Given the description of an element on the screen output the (x, y) to click on. 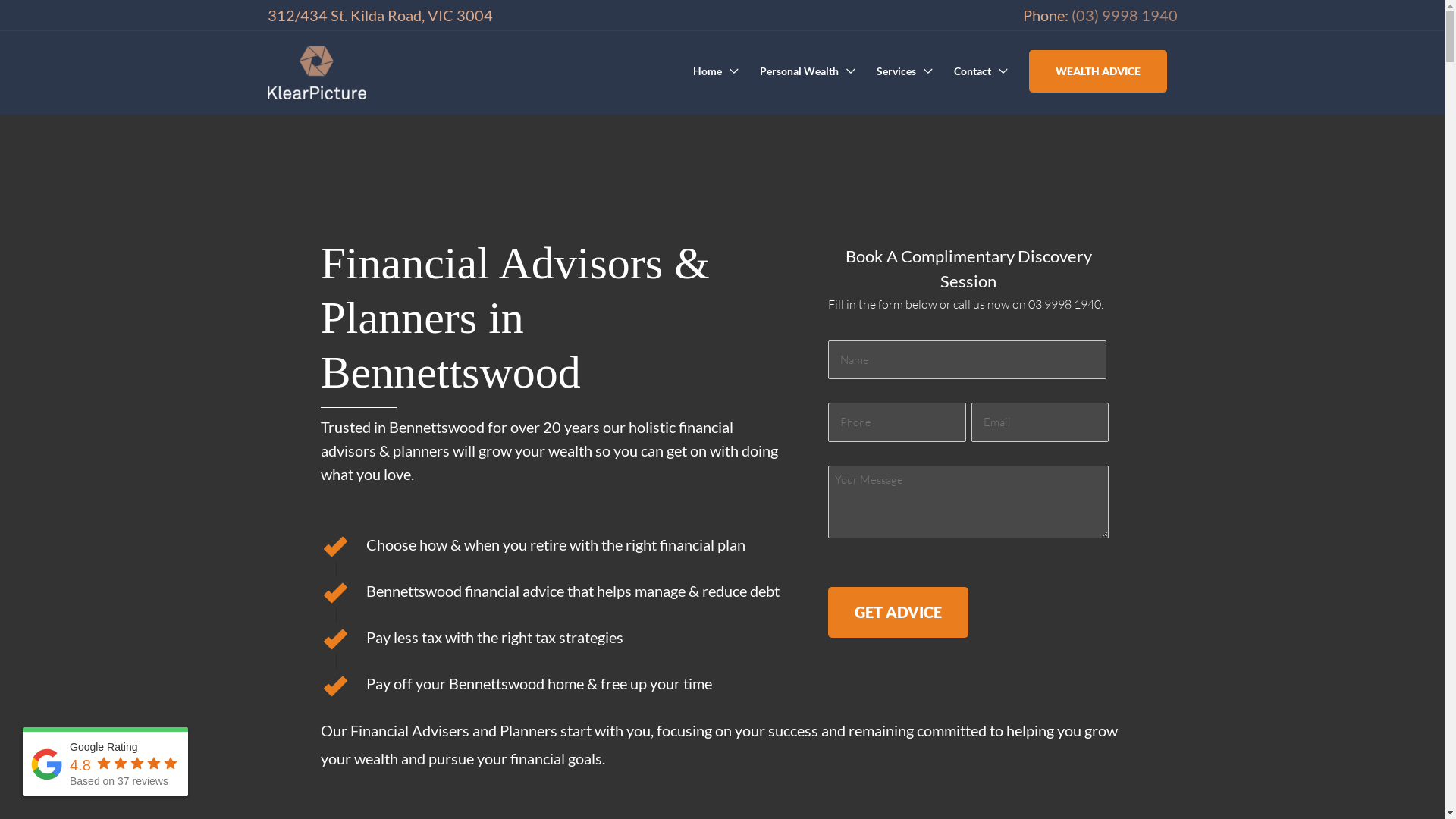
Home Element type: text (715, 71)
Personal Wealth Element type: text (807, 71)
(03) 9998 1940 Element type: text (1123, 15)
WEALTH ADVICE Element type: text (1097, 71)
Services Element type: text (904, 71)
Contact Element type: text (980, 71)
GET ADVICE Element type: text (898, 611)
